Given the description of an element on the screen output the (x, y) to click on. 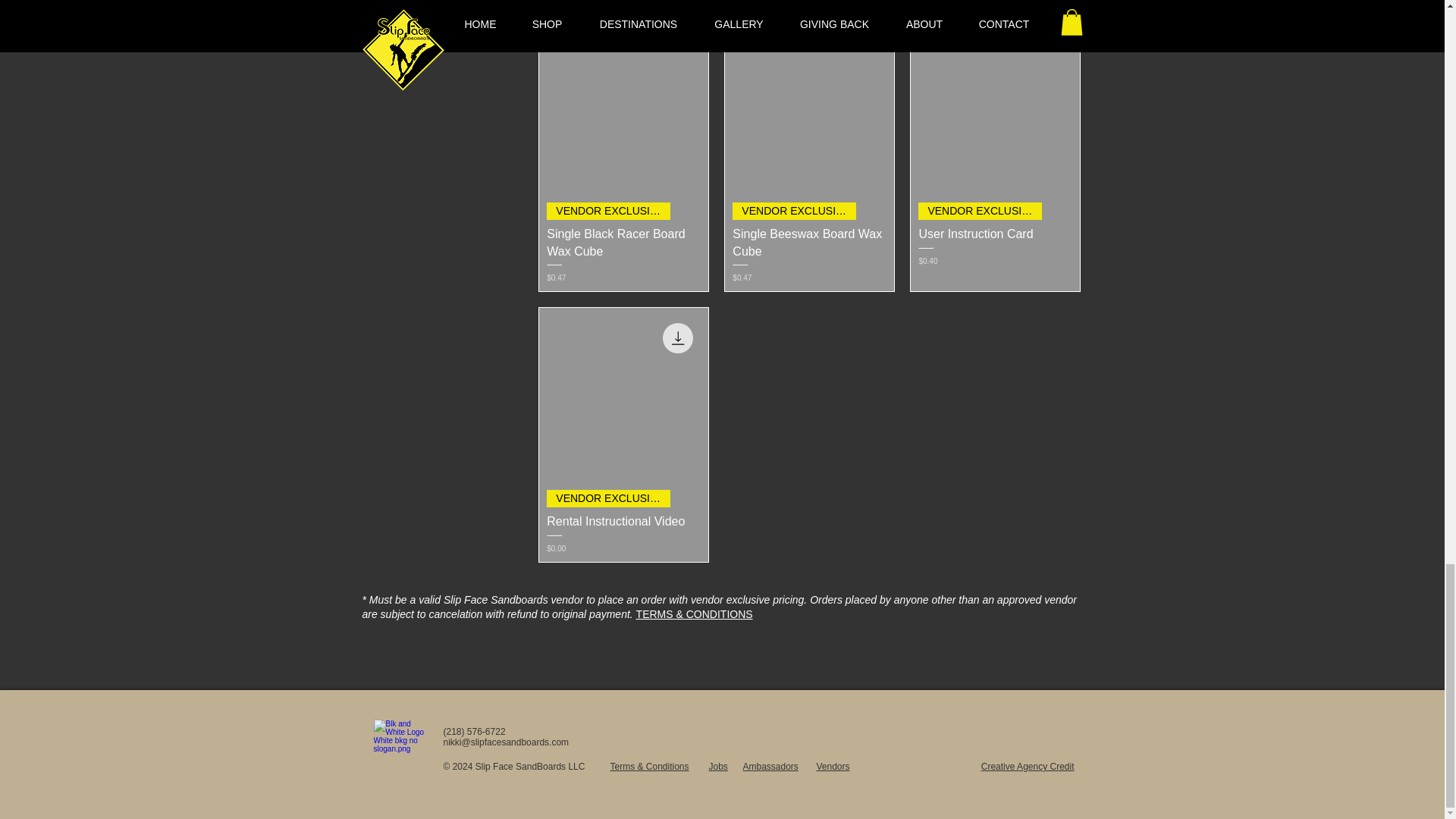
Slip Face.png (400, 747)
